Given the description of an element on the screen output the (x, y) to click on. 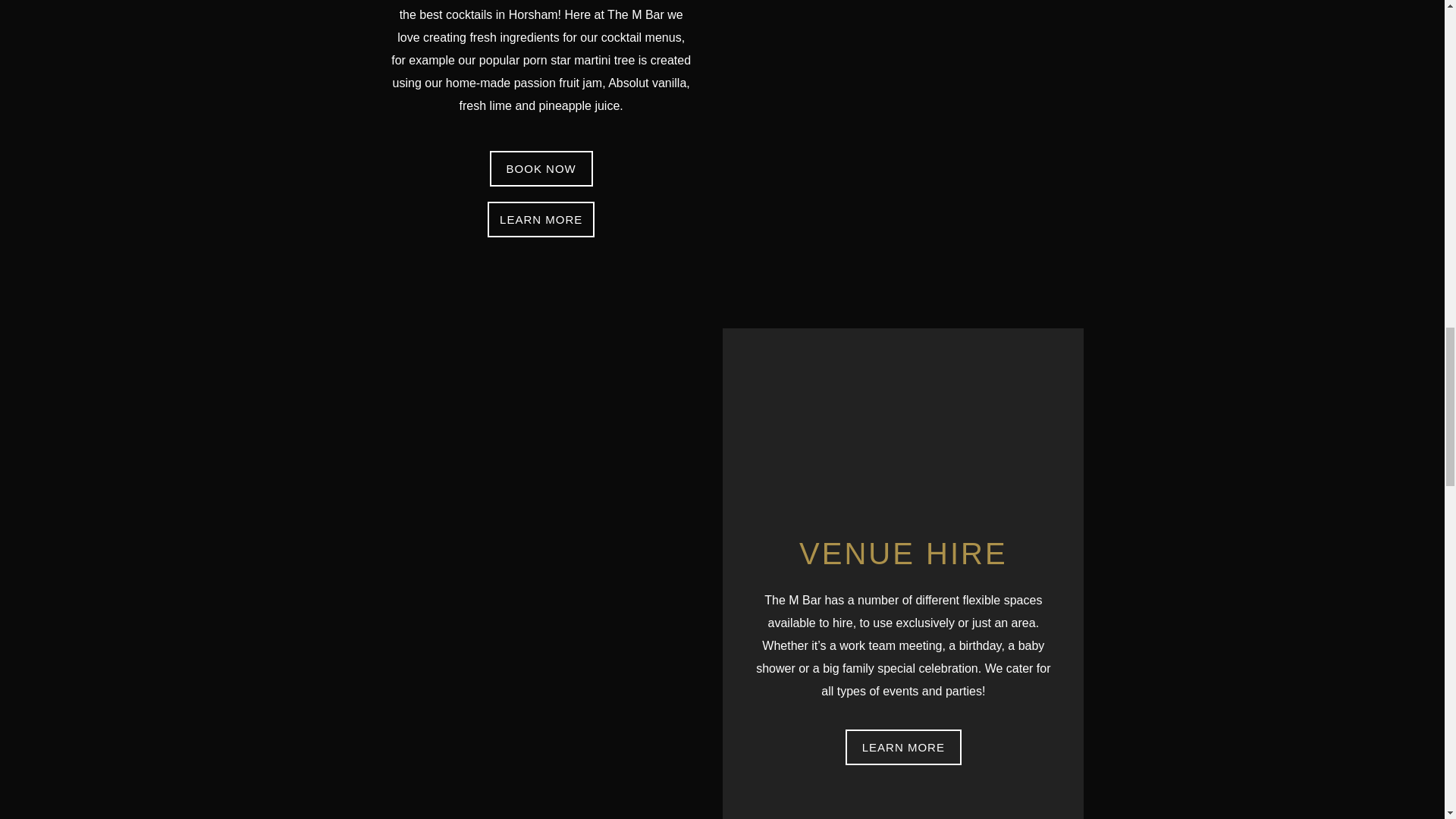
BOOK NOW (540, 168)
LEARN MORE (902, 746)
LEARN MORE (540, 219)
